Given the description of an element on the screen output the (x, y) to click on. 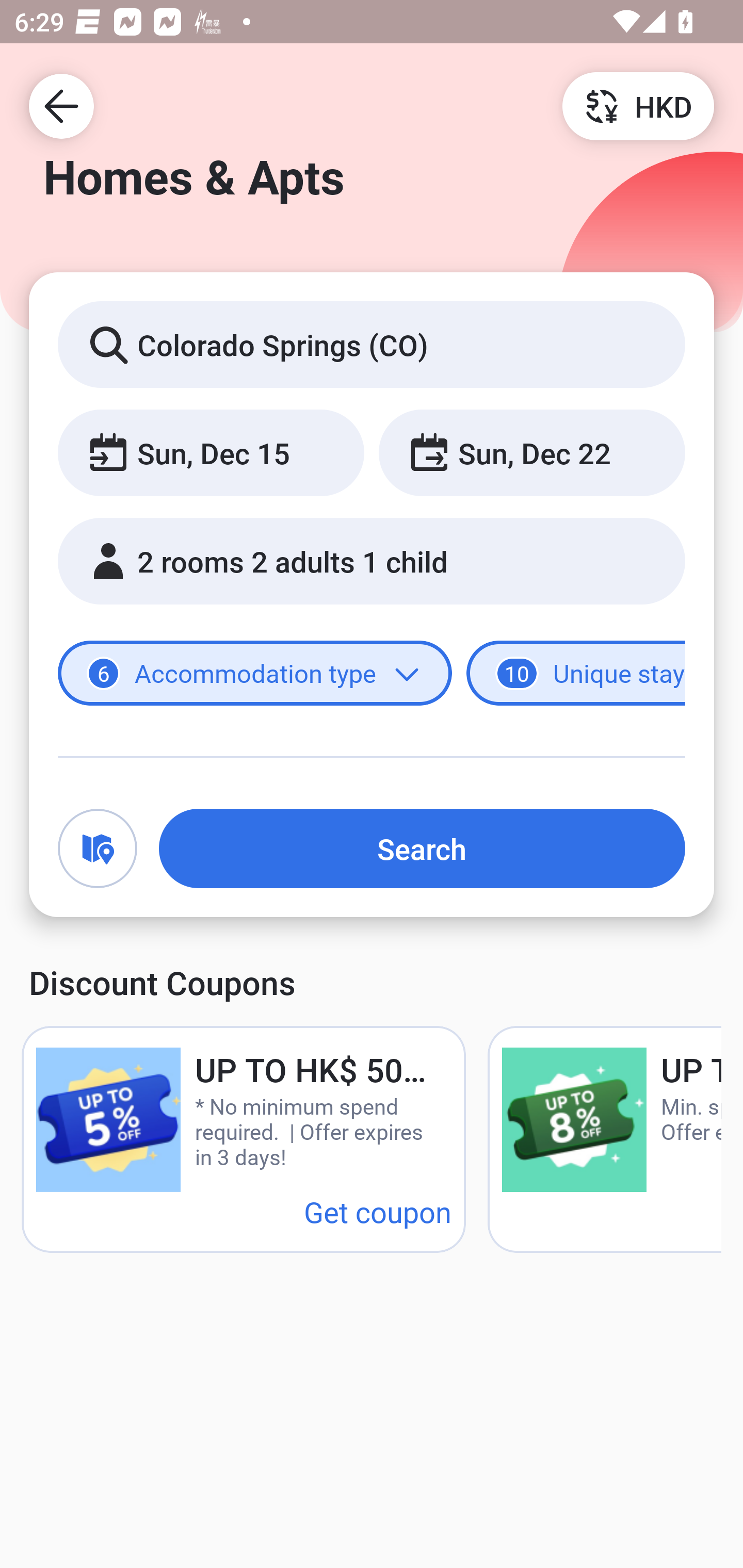
HKD (638, 105)
Colorado Springs (CO) (371, 344)
Sun, Dec 15 (210, 452)
Sun, Dec 22 (531, 452)
2 rooms 2 adults 1 child (371, 561)
6 Accommodation type (254, 673)
10 Unique stays (575, 673)
Search (422, 848)
Get coupon (377, 1211)
